Given the description of an element on the screen output the (x, y) to click on. 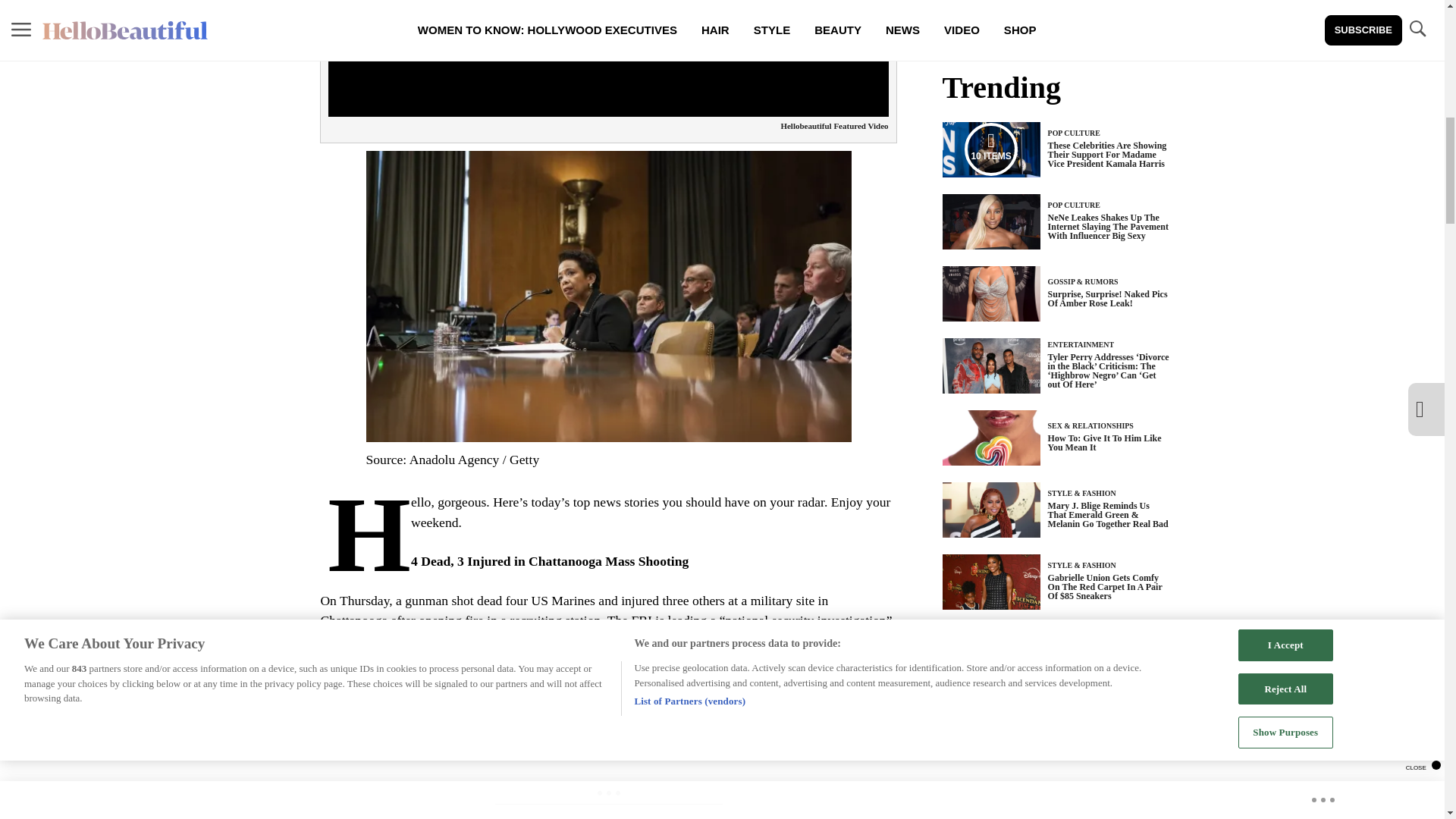
New York Times (700, 700)
Media Playlist (990, 149)
